Given the description of an element on the screen output the (x, y) to click on. 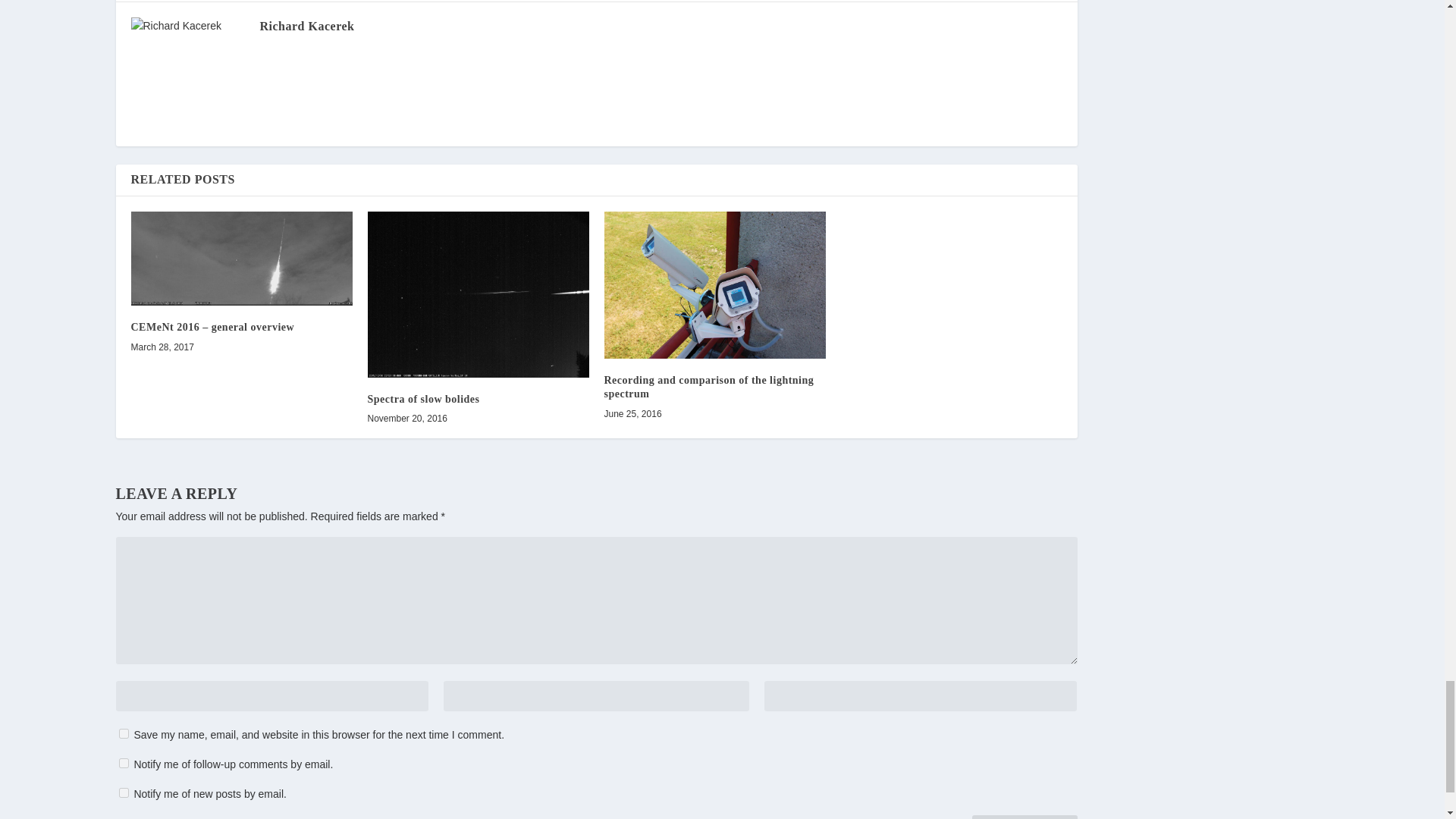
subscribe (122, 792)
View all posts by Richard Kacerek (306, 25)
Spectra of slow bolides (477, 294)
subscribe (122, 763)
Post Comment (1024, 816)
yes (122, 733)
